Given the description of an element on the screen output the (x, y) to click on. 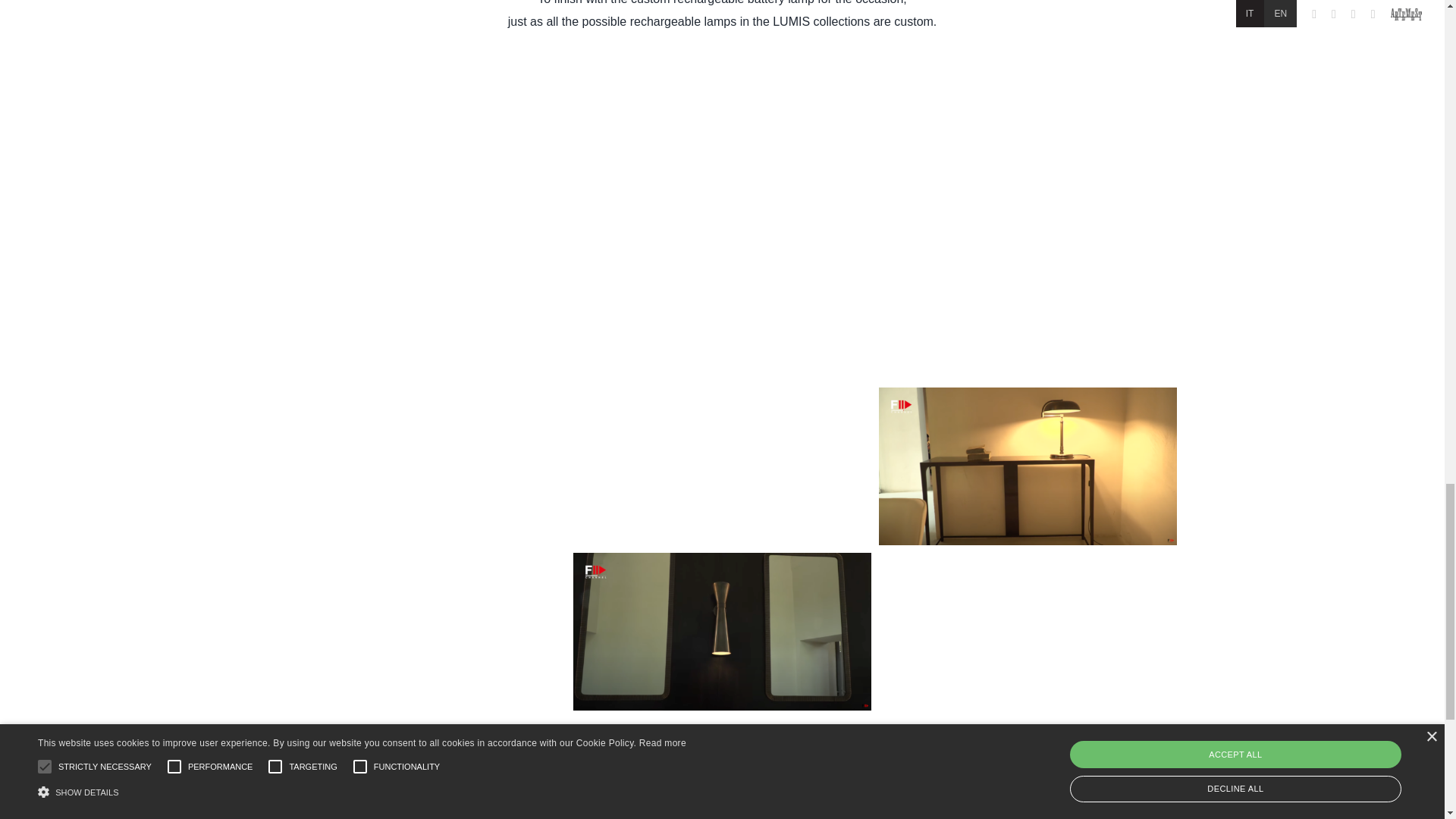
Schermata 2023-05-10 alle 16.28.27 (721, 135)
Schermata 2023-05-10 alle 16.28.00 (415, 135)
